Given the description of an element on the screen output the (x, y) to click on. 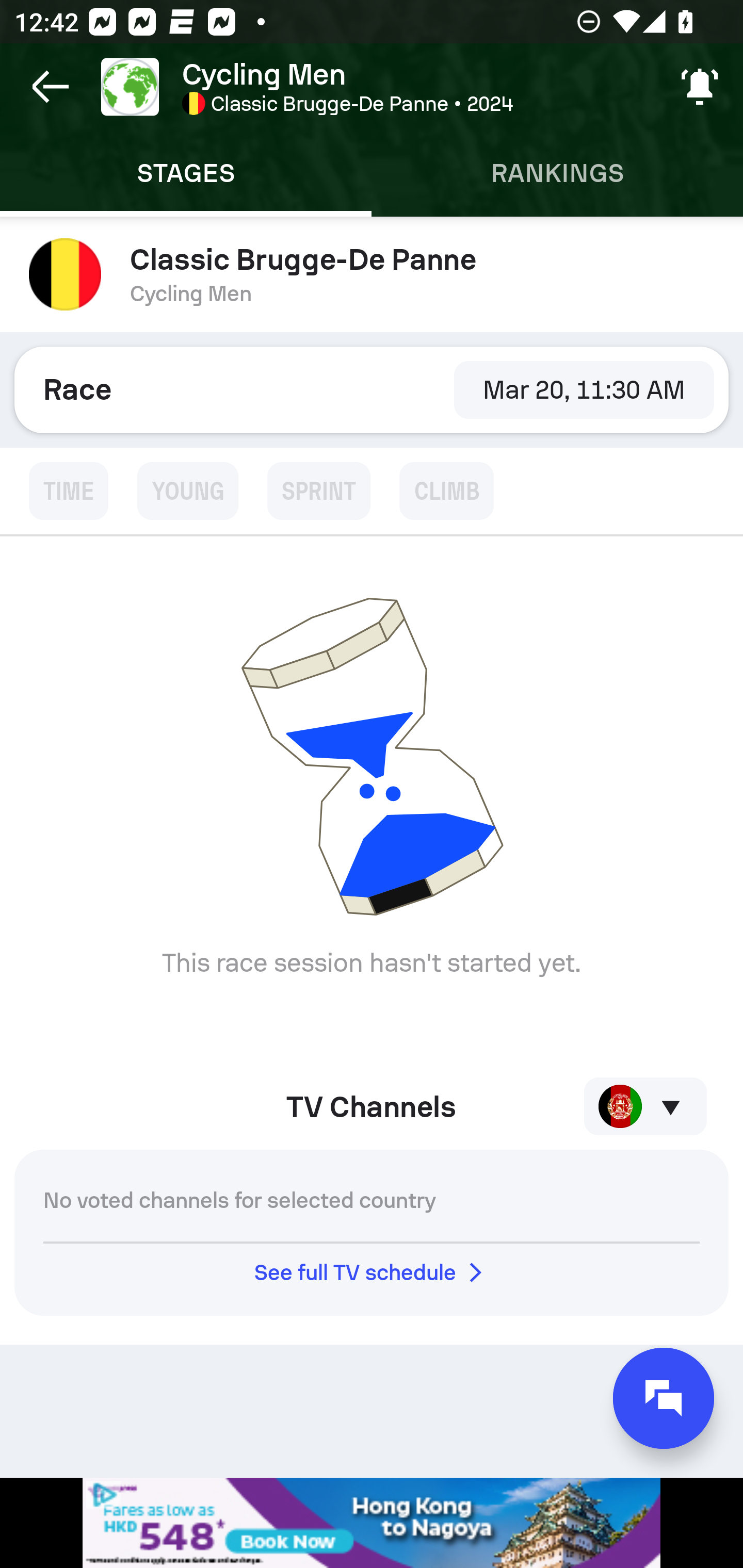
Navigate up (50, 86)
Rankings RANKINGS (557, 173)
Race Mar 20, 11:30 AM (371, 389)
Mar 20, 11:30 AM (583, 389)
See full TV schedule (371, 1272)
CHAT (663, 1398)
wi46309w_320x50 (371, 1522)
